Given the description of an element on the screen output the (x, y) to click on. 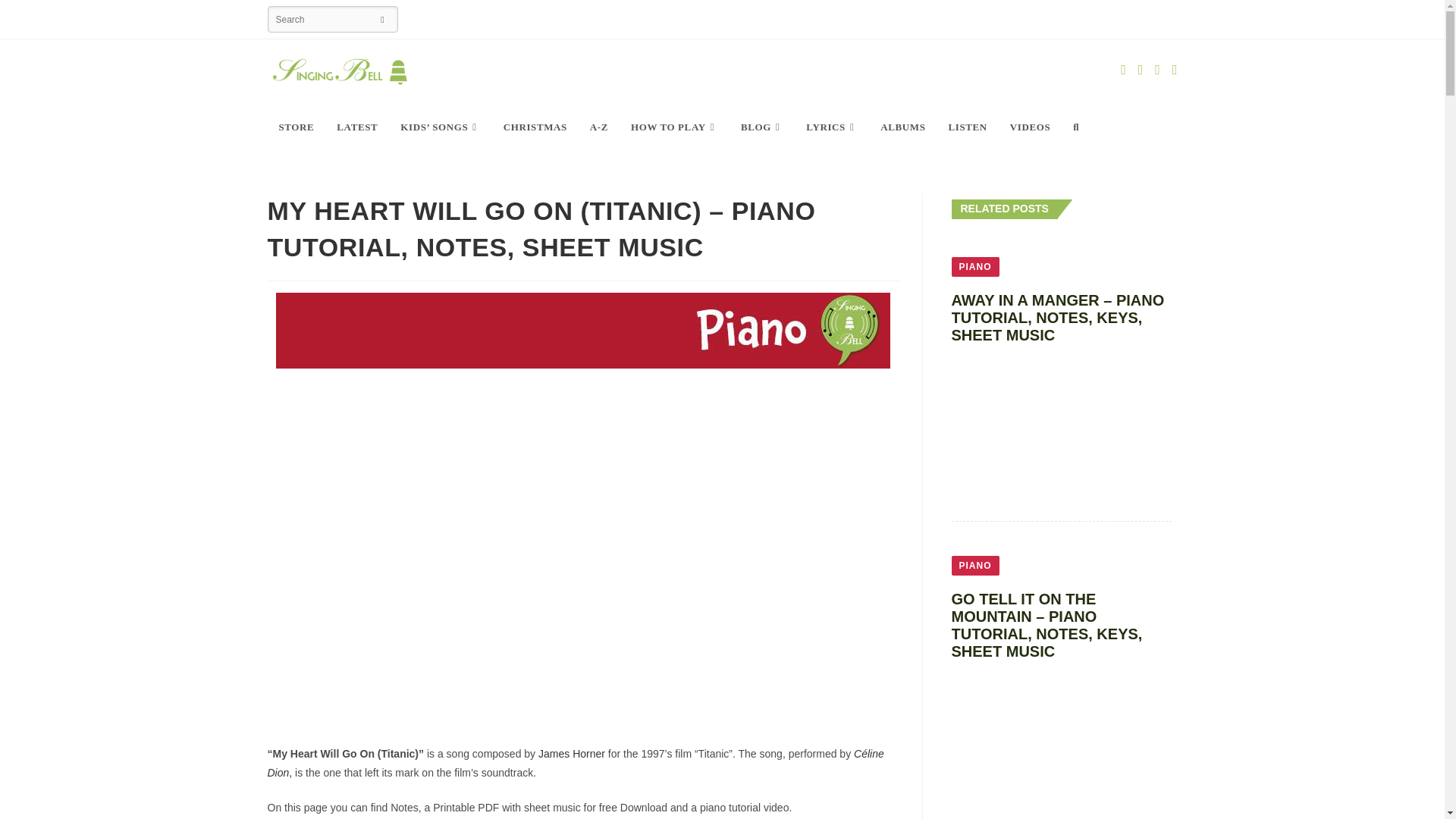
HOW TO PLAY (674, 127)
LYRICS (831, 127)
Singing-Bell-Logo-New : Singing Bell (338, 71)
STORE (295, 127)
CHRISTMAS (535, 127)
ALBUMS (902, 127)
LATEST (356, 127)
BLOG (761, 127)
Navigation-Piano : Singing Bell (582, 330)
